Given the description of an element on the screen output the (x, y) to click on. 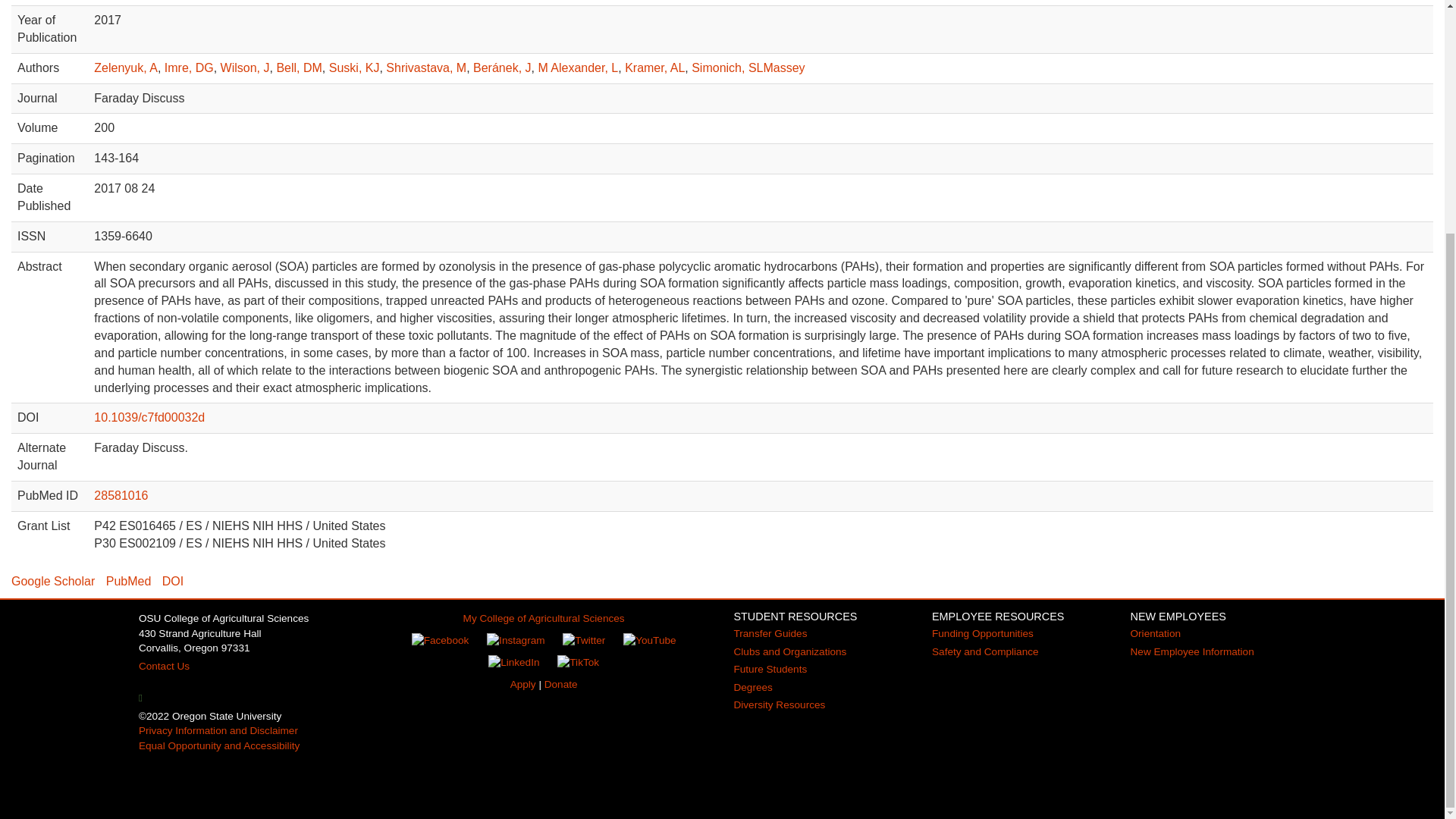
Click to view the PubMed listing for this node (128, 581)
Click to search Google Scholar for this entry (52, 581)
Clubs and Organizations (789, 651)
28581016 (121, 495)
Apply (523, 684)
Equal Opportunity and Accessibility (218, 745)
DOI (172, 581)
Transfer Guides (769, 633)
PubMed (128, 581)
My College of Agricultural Sciences (543, 618)
Google Scholar (52, 581)
Suski, KJ (354, 67)
Wilson, J (245, 67)
Contact Us (163, 665)
Imre, DG (189, 67)
